Given the description of an element on the screen output the (x, y) to click on. 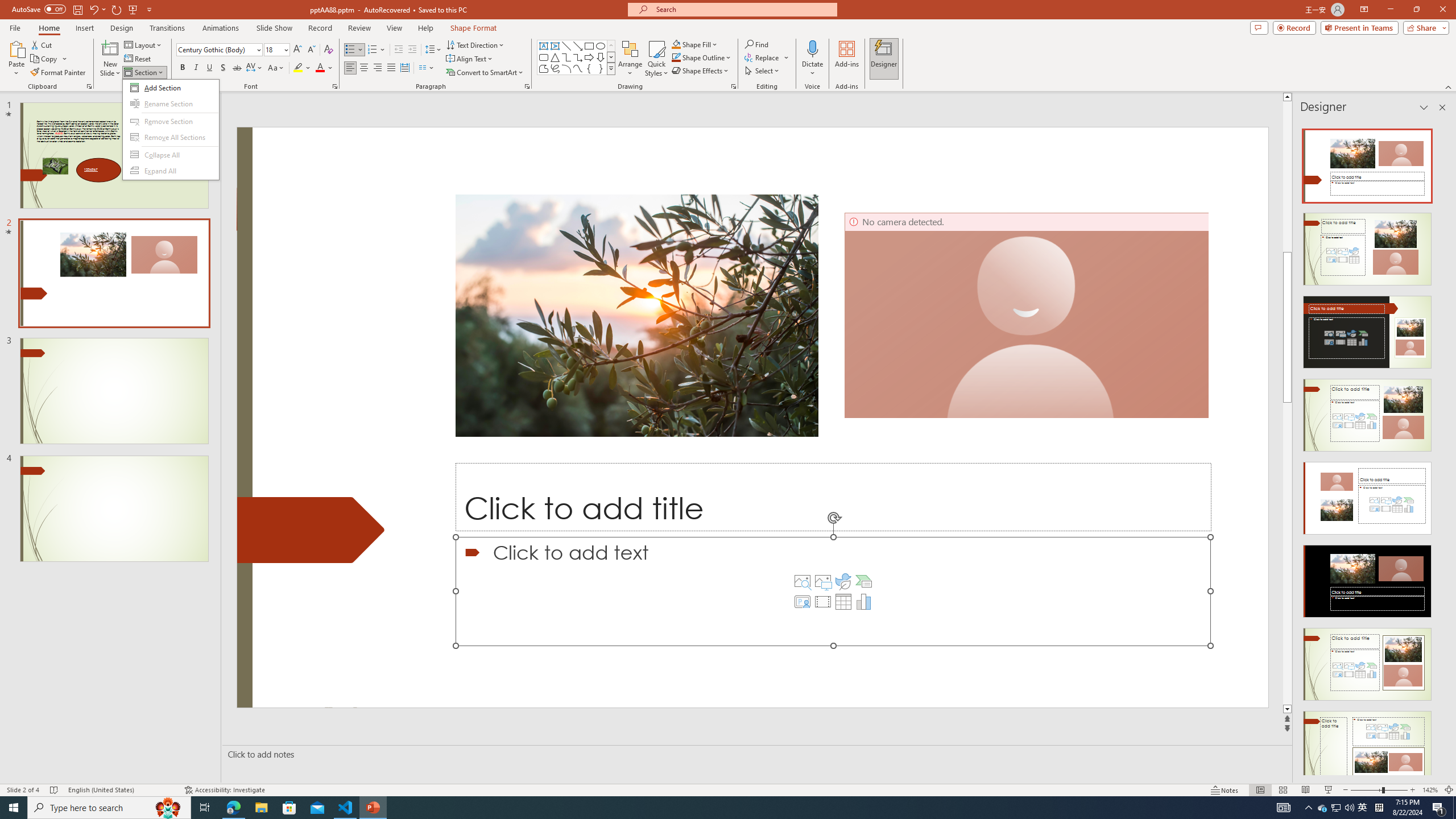
Insert Table (843, 601)
